Given the description of an element on the screen output the (x, y) to click on. 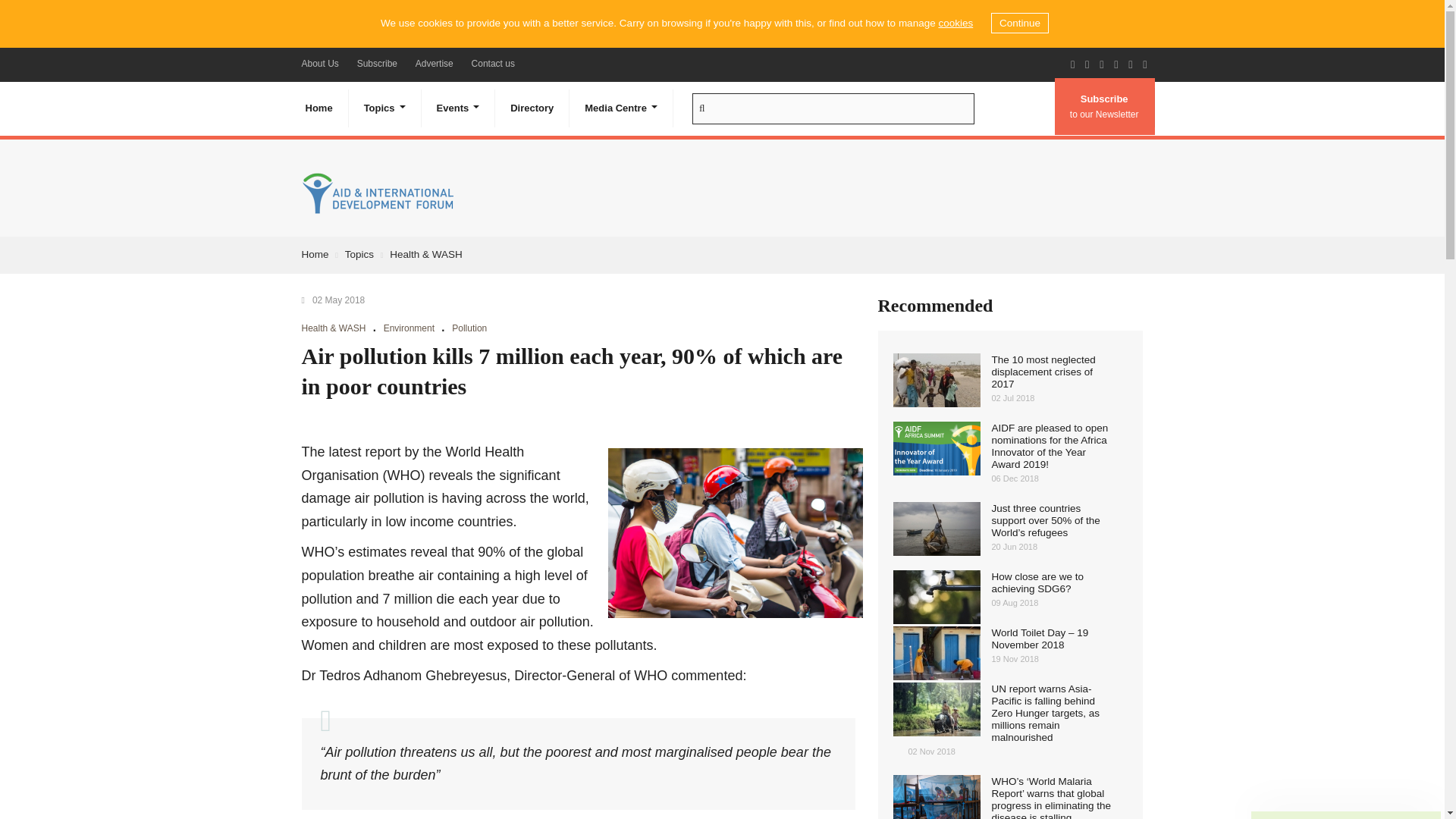
Advertise (434, 63)
cookies (954, 22)
About Us (320, 63)
Topics... (385, 108)
Subscribe (376, 63)
Home (318, 108)
Contact us (493, 63)
